Given the description of an element on the screen output the (x, y) to click on. 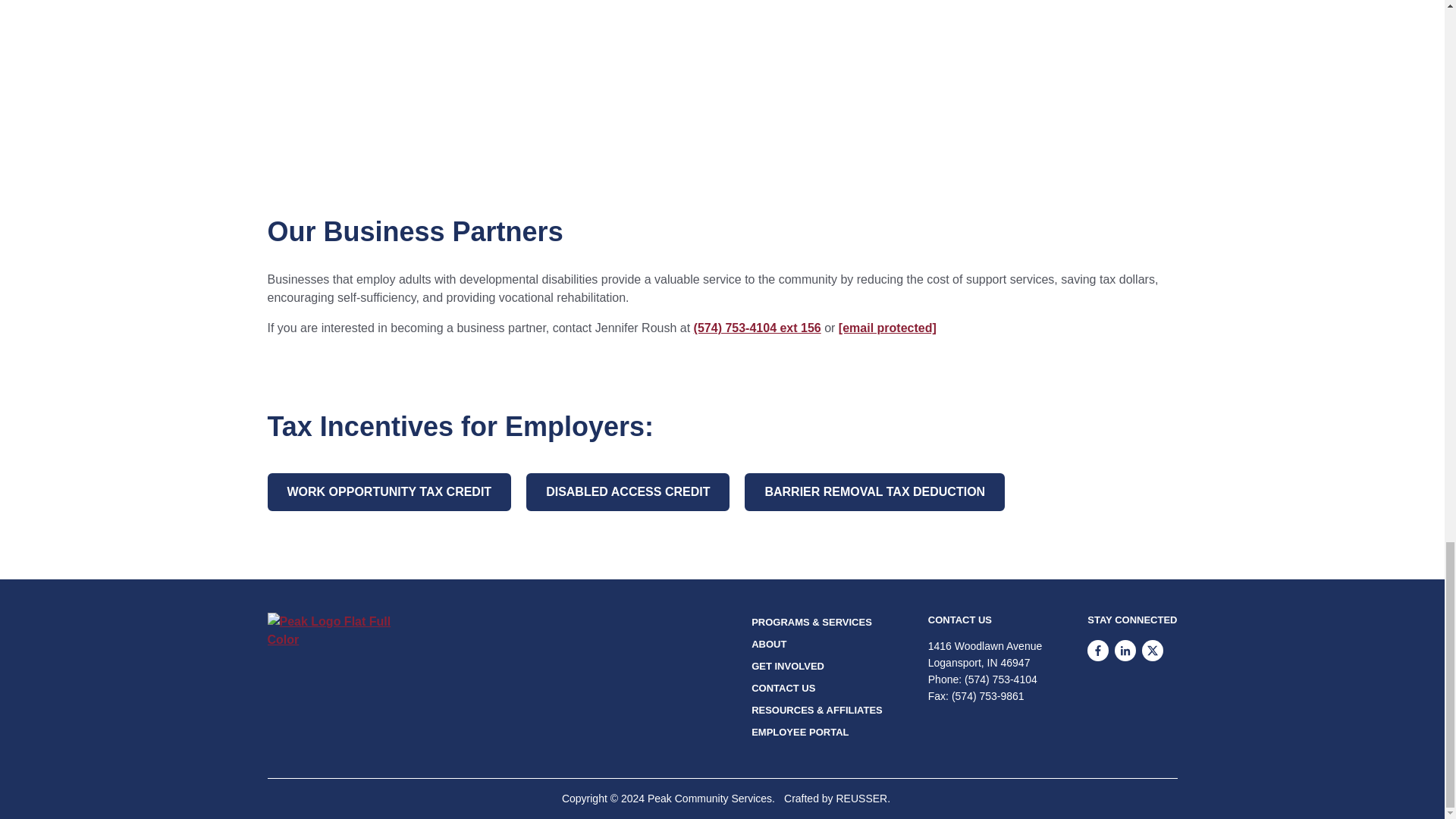
DISABLED ACCESS CREDIT (627, 492)
WORK OPPORTUNITY TAX CREDIT (388, 492)
Working with Indiana Vocational Rehabilitation (721, 71)
